Given the description of an element on the screen output the (x, y) to click on. 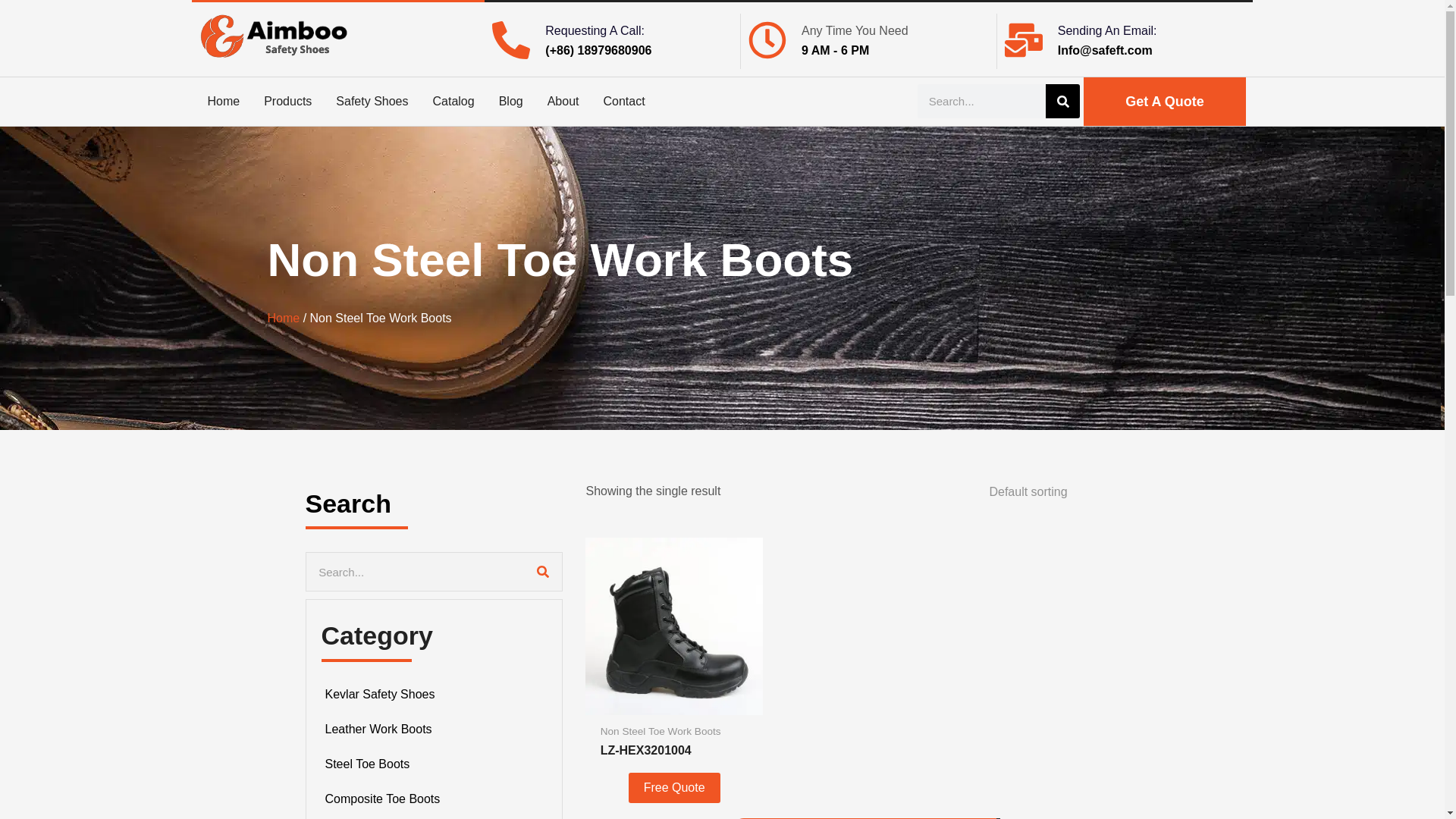
Home (223, 101)
Products (287, 101)
Sending An Email: (1107, 30)
